Given the description of an element on the screen output the (x, y) to click on. 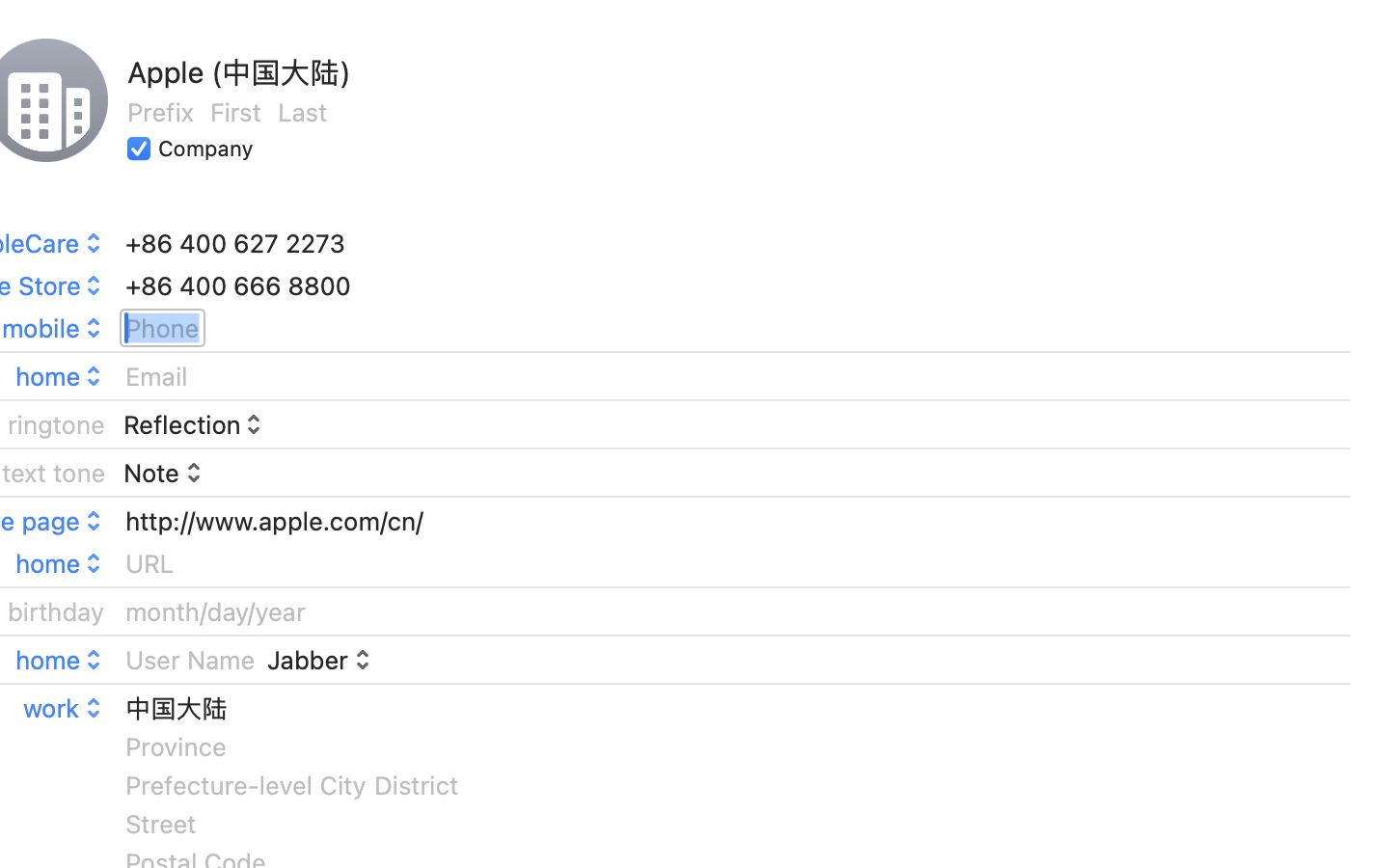
home Element type: AXStaticText (60, 659)
Reflection Element type: AXPopUpButton (194, 423)
http://www.apple.com/cn/ Element type: AXTextField (274, 520)
